Given the description of an element on the screen output the (x, y) to click on. 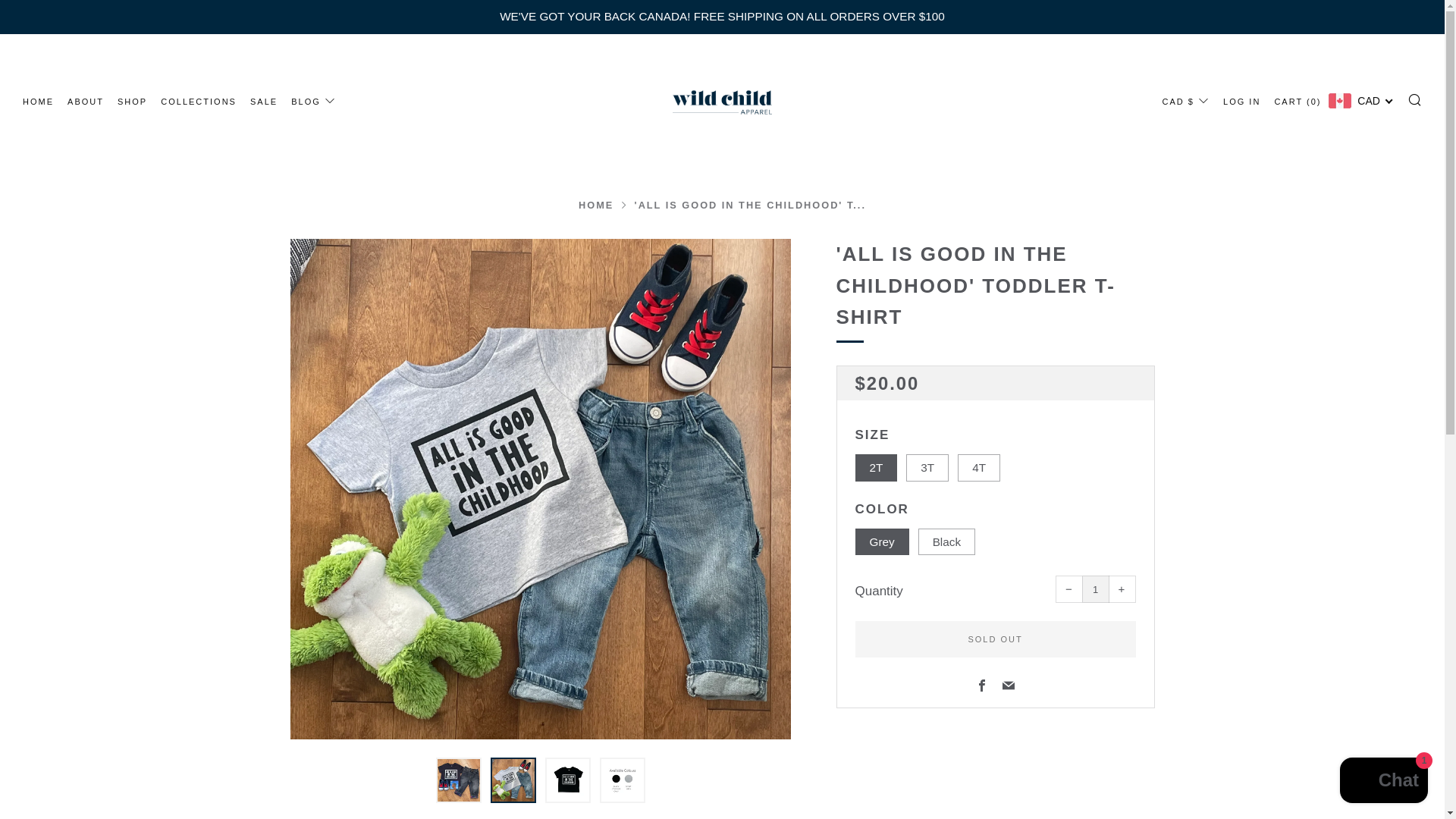
1 (1094, 588)
SALE (264, 101)
ABOUT (84, 101)
Home (595, 204)
SHOP (132, 101)
Shopify online store chat (1383, 781)
COLLECTIONS (197, 101)
HOME (38, 101)
LOG IN (1241, 101)
HOME (595, 204)
SEARCH (1414, 99)
